Given the description of an element on the screen output the (x, y) to click on. 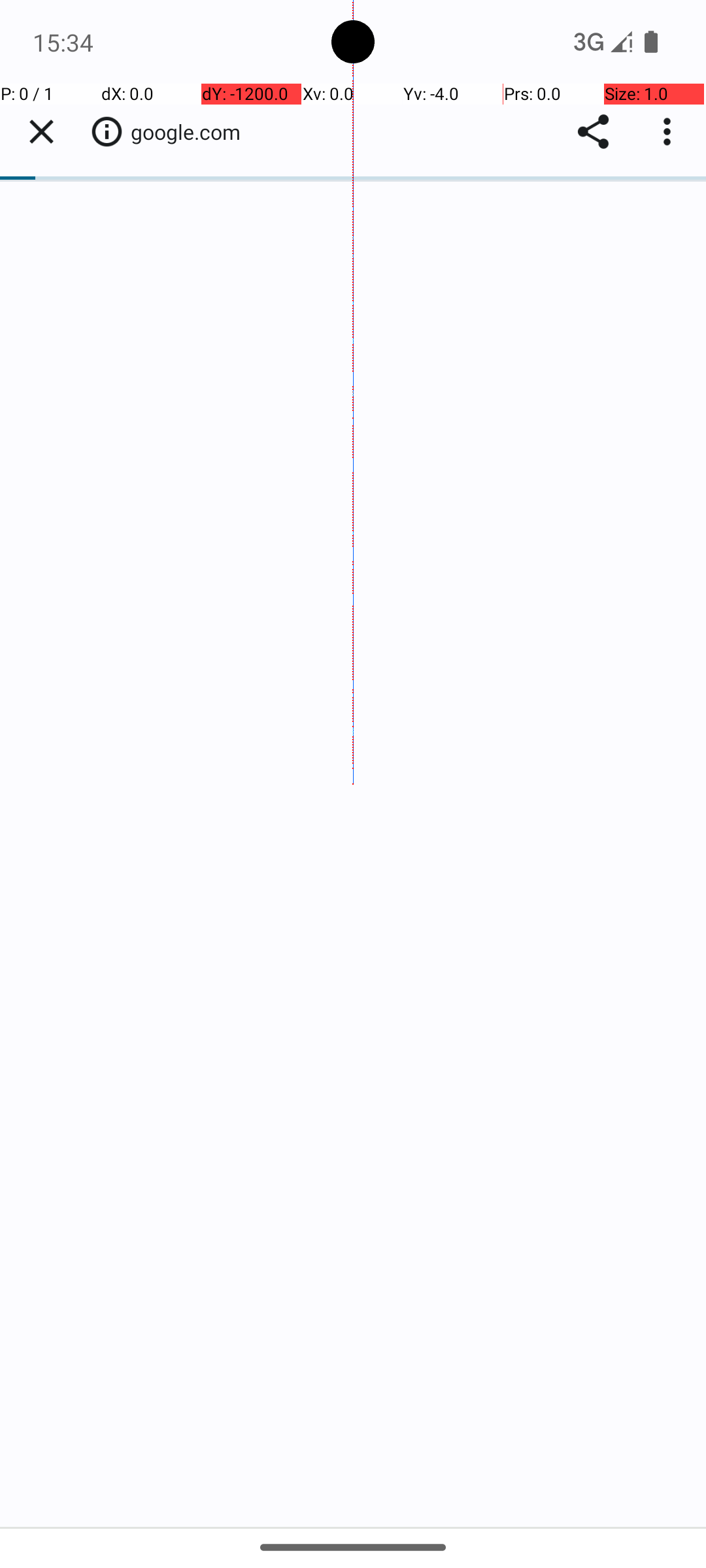
Web View Element type: android.widget.FrameLayout (353, 804)
Close tab Element type: android.widget.ImageButton (41, 131)
Your connection to this site is not secure Element type: android.widget.ImageButton (106, 131)
Share Element type: android.widget.ImageButton (593, 131)
More options Element type: android.widget.ImageButton (670, 131)
google.com Element type: android.widget.TextView (192, 131)
